Given the description of an element on the screen output the (x, y) to click on. 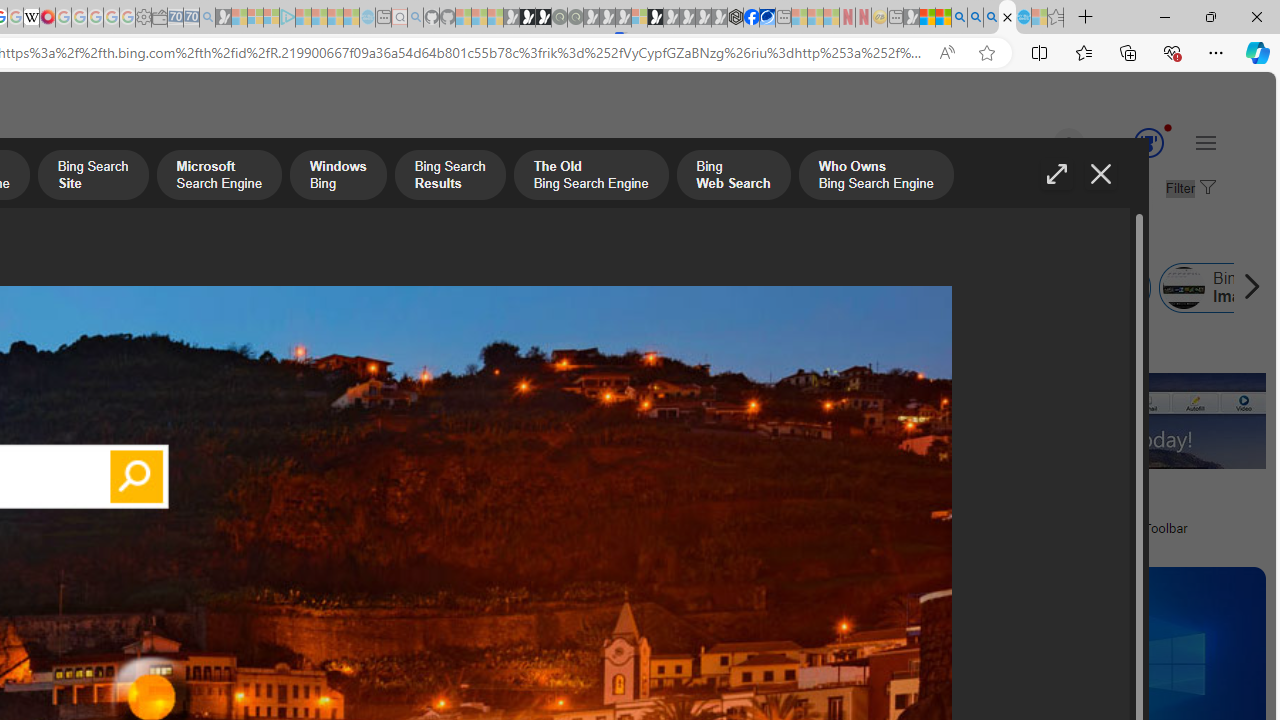
Bing Bar Toolbar (504, 287)
Sign in to your account - Sleeping (639, 17)
1:46 (295, 349)
Target page - Wikipedia (31, 17)
Bing Bar Download (903, 287)
